Given the description of an element on the screen output the (x, y) to click on. 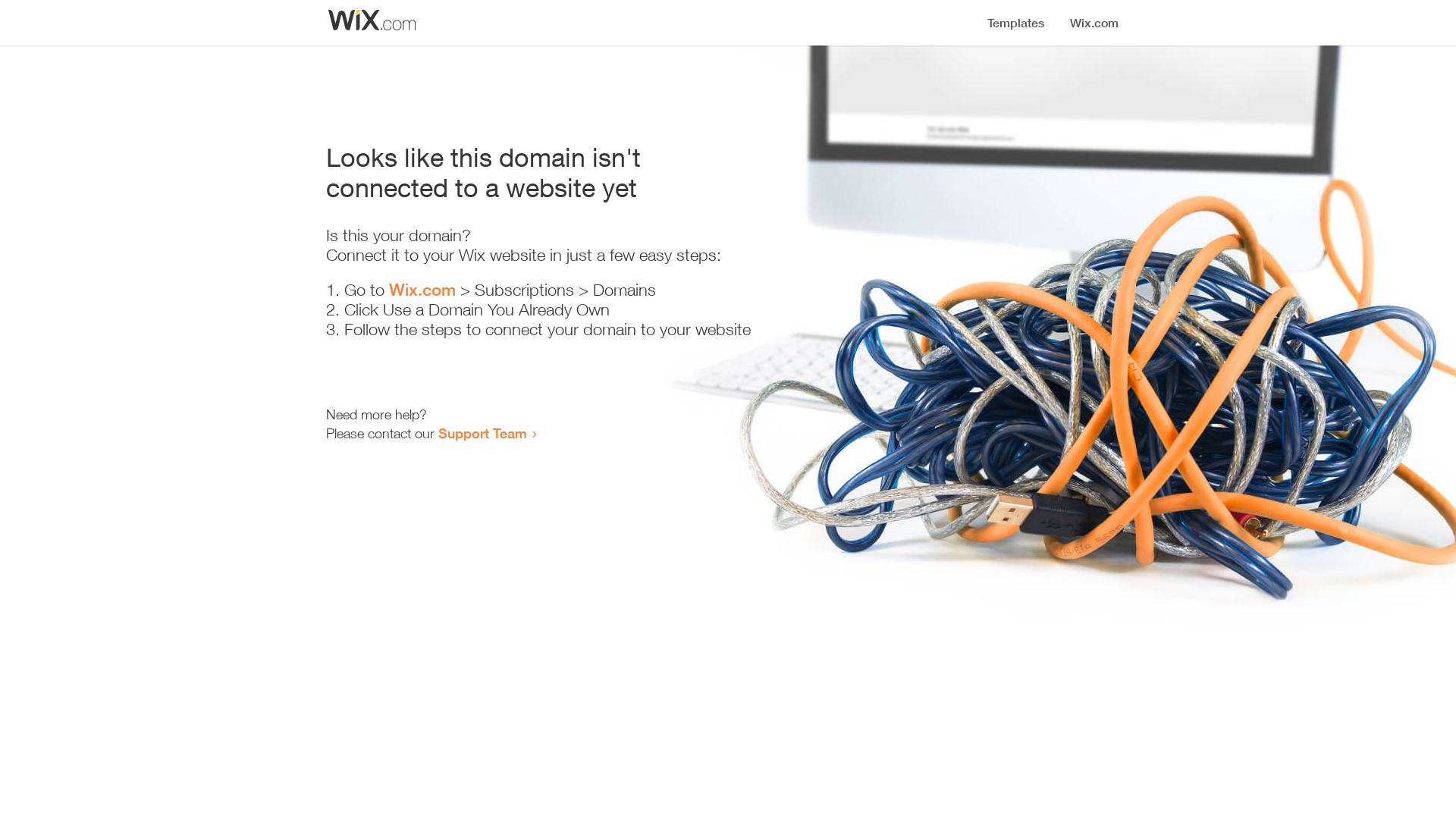
Support Team Element type: text (482, 432)
Wix.com Element type: text (422, 289)
